Given the description of an element on the screen output the (x, y) to click on. 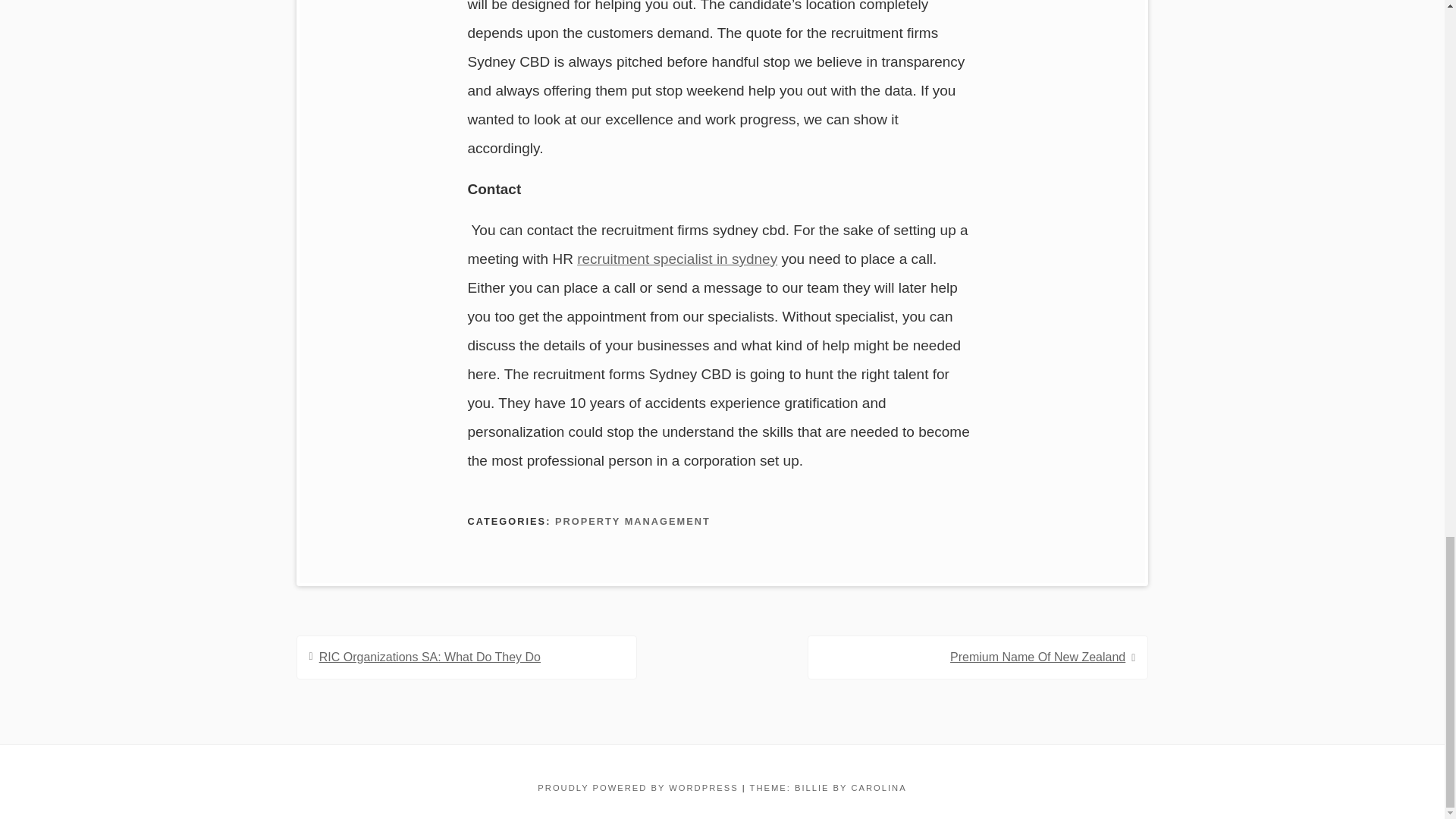
RIC Organizations SA: What Do They Do (429, 656)
PROUDLY POWERED BY WORDPRESS (637, 787)
Premium Name Of New Zealand (1037, 656)
recruitment specialist in sydney (676, 258)
PROPERTY MANAGEMENT (632, 521)
THEME: BILLIE BY CAROLINA (828, 787)
